Given the description of an element on the screen output the (x, y) to click on. 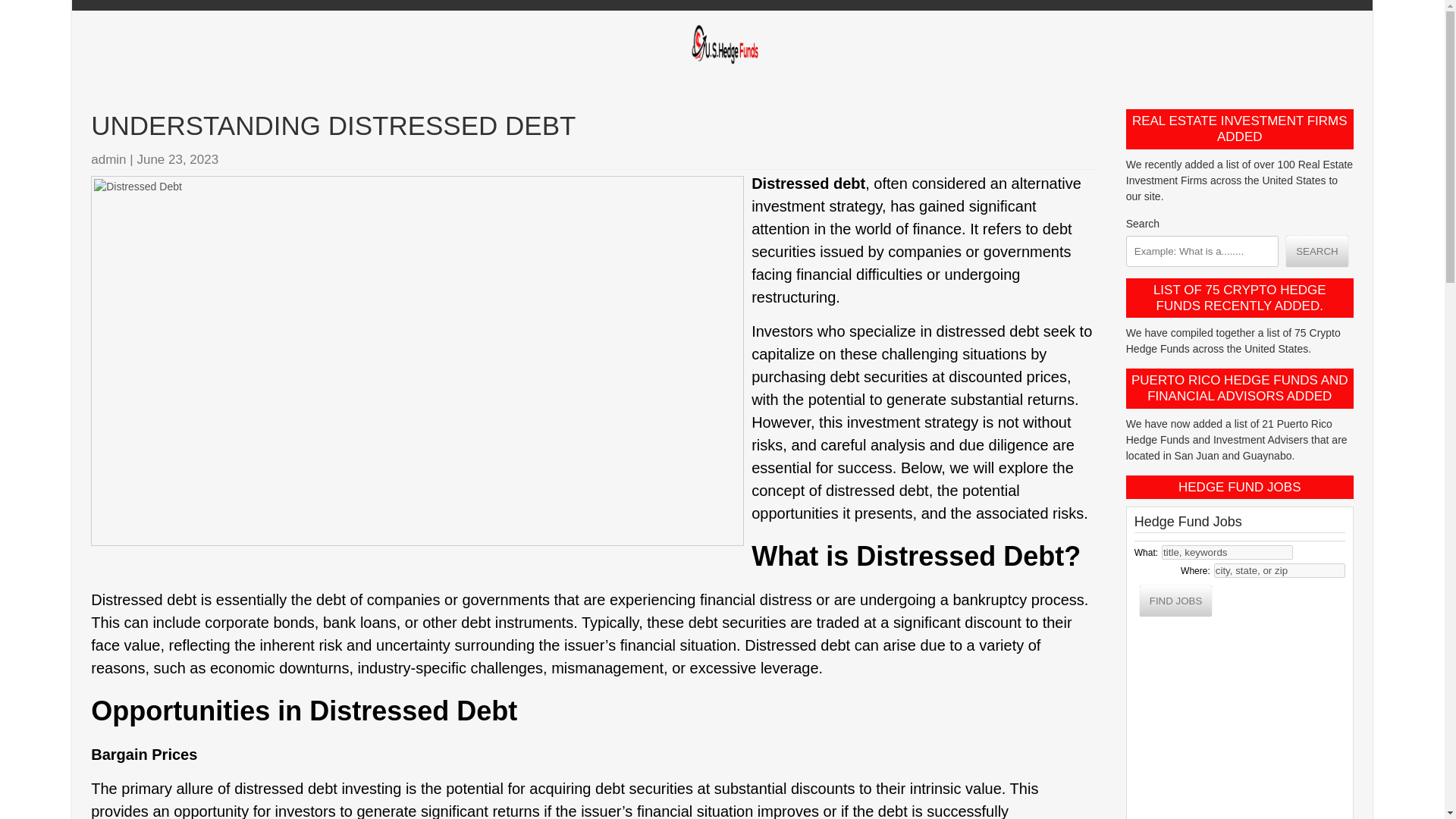
Find Jobs (1176, 600)
June 23, 2023 (177, 159)
Find Jobs (1176, 600)
SEARCH (1316, 250)
title, keywords (1226, 552)
city, state, or zip (1279, 570)
